Given the description of an element on the screen output the (x, y) to click on. 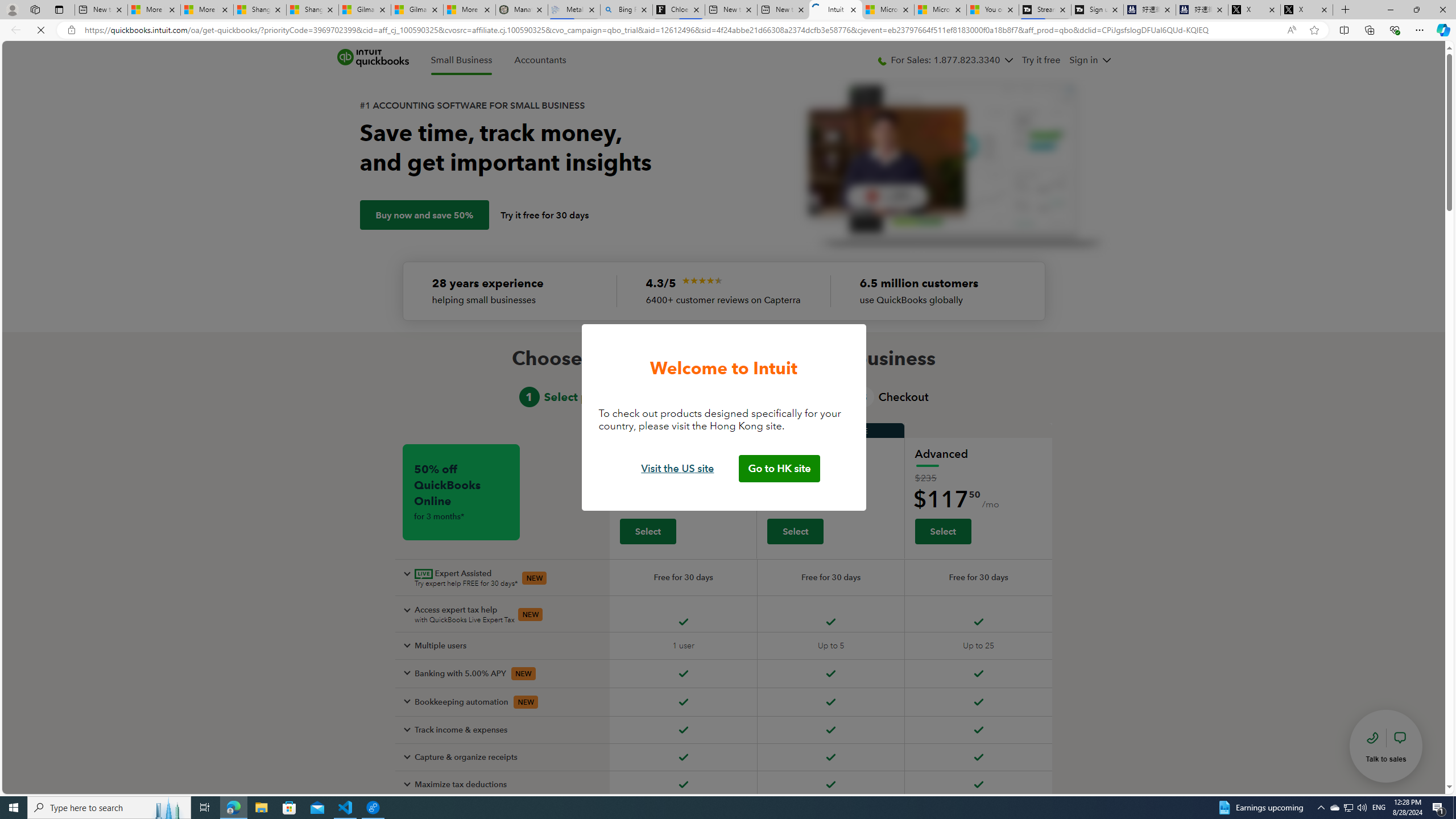
Intuit QuickBooks Online - Quickbooks (835, 9)
Class: MenuItem_dDown__f585abf6 MenuItem_white__f585abf6 (1105, 60)
Small Business (461, 60)
Sign in (1089, 60)
Image Alt Text (701, 280)
PhoneIcon (881, 61)
Bing Real Estate - Home sales and rental listings (626, 9)
